Given the description of an element on the screen output the (x, y) to click on. 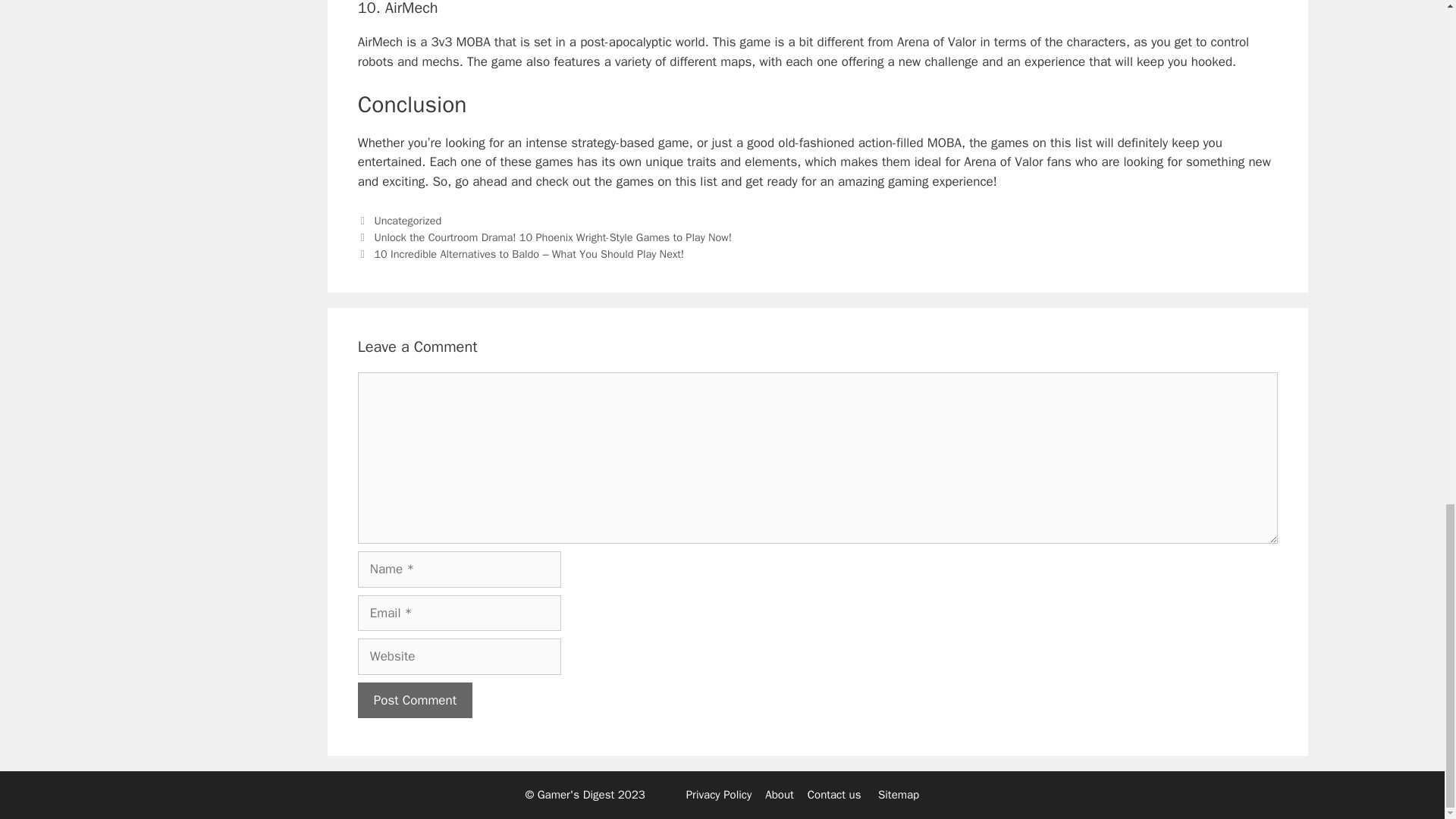
Post Comment (414, 700)
Post Comment (414, 700)
Previous (545, 237)
Uncategorized (407, 220)
Contact us (834, 794)
Privacy Policy (718, 794)
Next (521, 254)
Sitemap (897, 794)
About (779, 794)
